Given the description of an element on the screen output the (x, y) to click on. 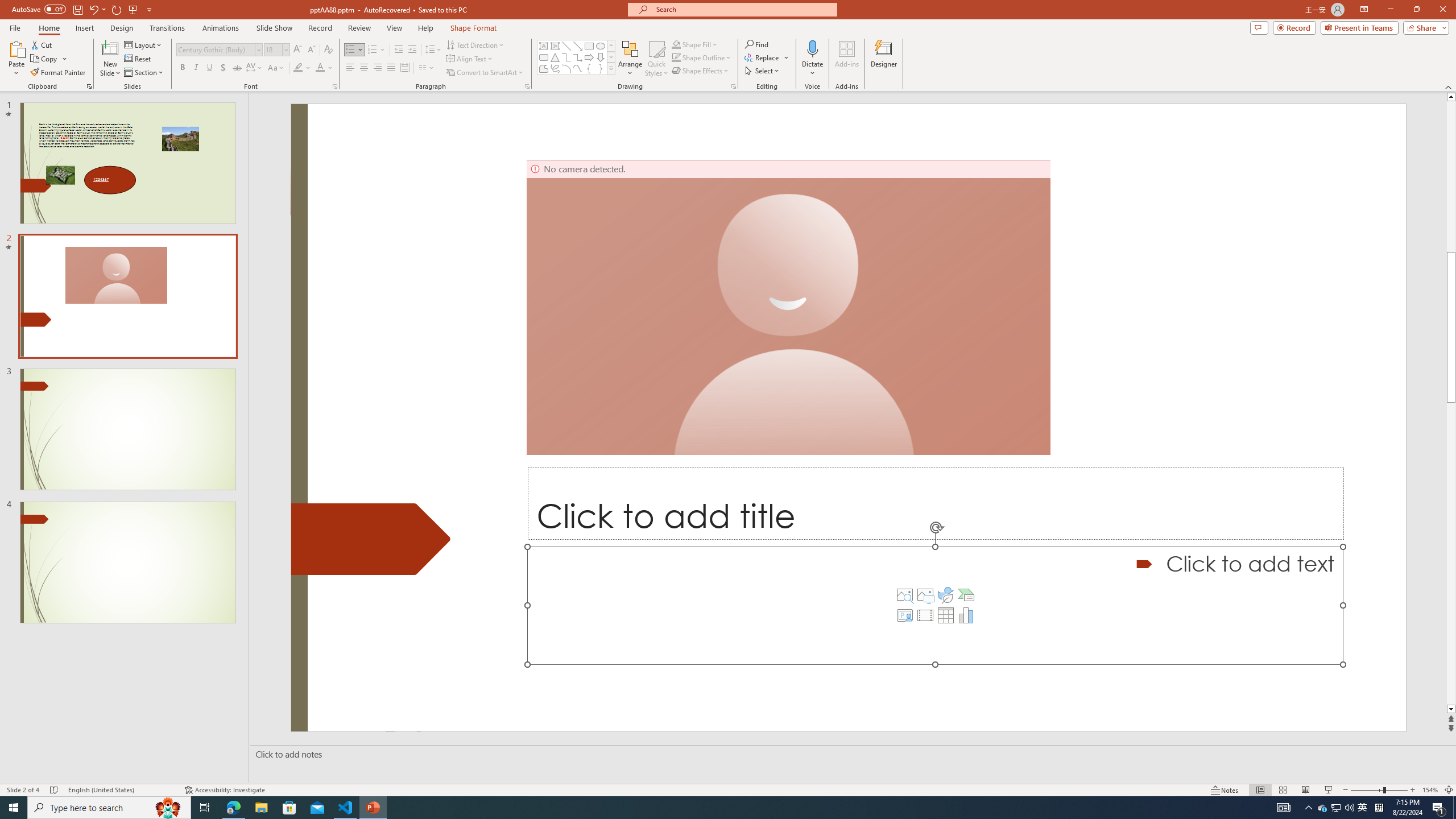
Relaxed Perspective, White (853, 56)
Soft Edge Oval (885, 56)
Camera 7, No camera detected. (788, 307)
Simple Frame, White (280, 56)
Change Picture (216, 58)
Perspective Shadow, White (821, 56)
